Given the description of an element on the screen output the (x, y) to click on. 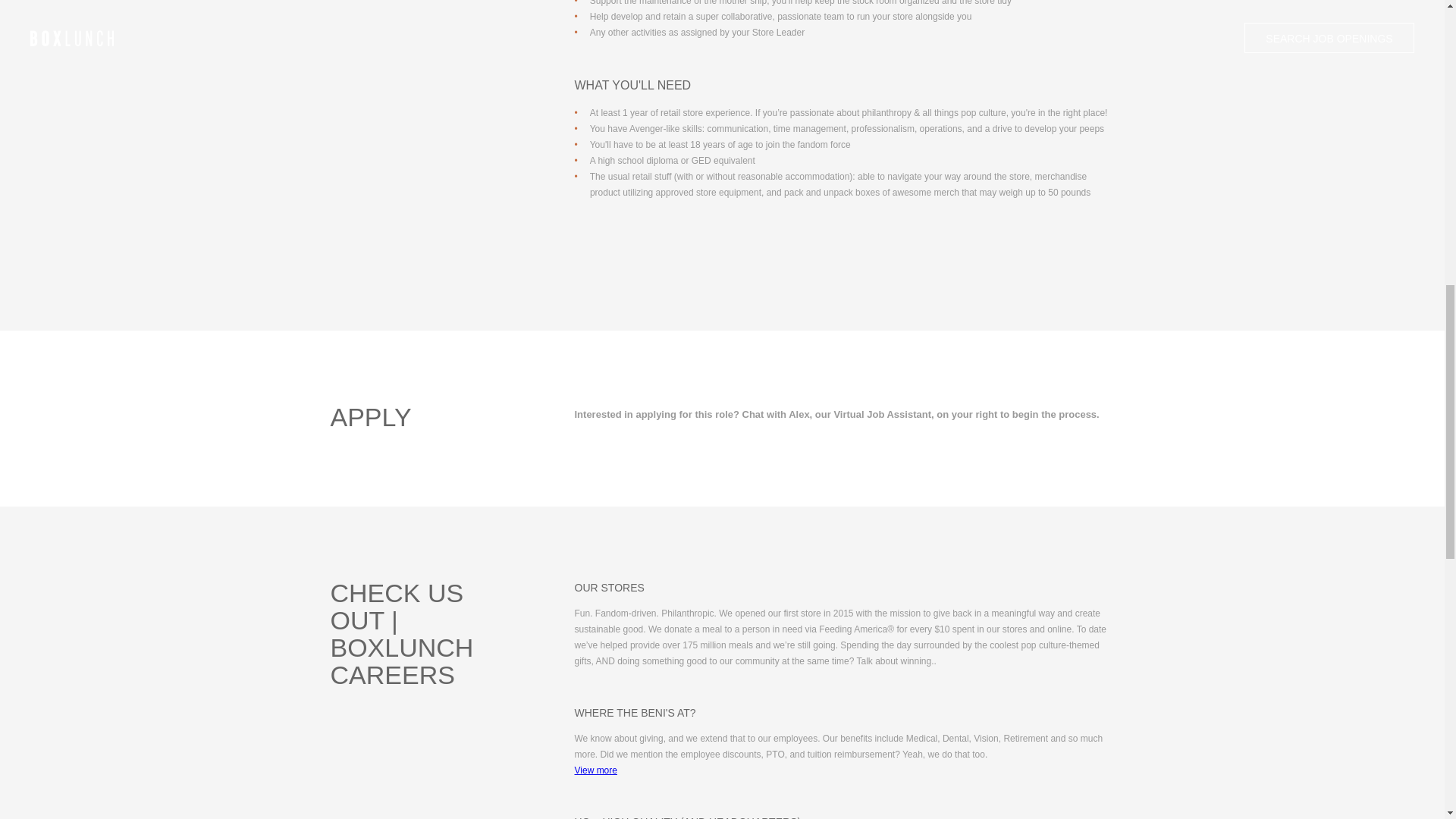
View more (596, 769)
